Given the description of an element on the screen output the (x, y) to click on. 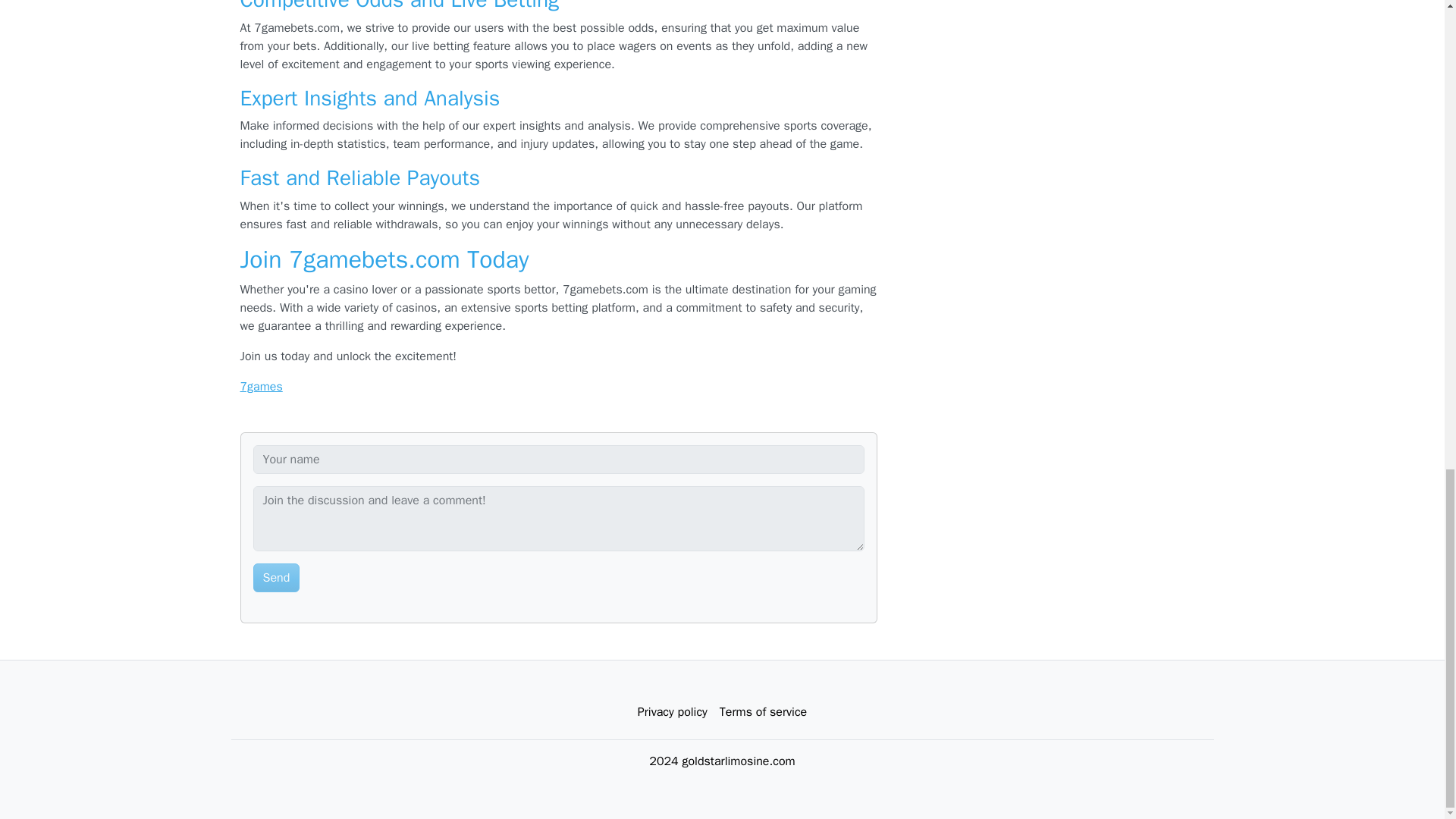
Send (276, 577)
7games (261, 386)
Send (276, 577)
Terms of service (762, 711)
Privacy policy (672, 711)
